Given the description of an element on the screen output the (x, y) to click on. 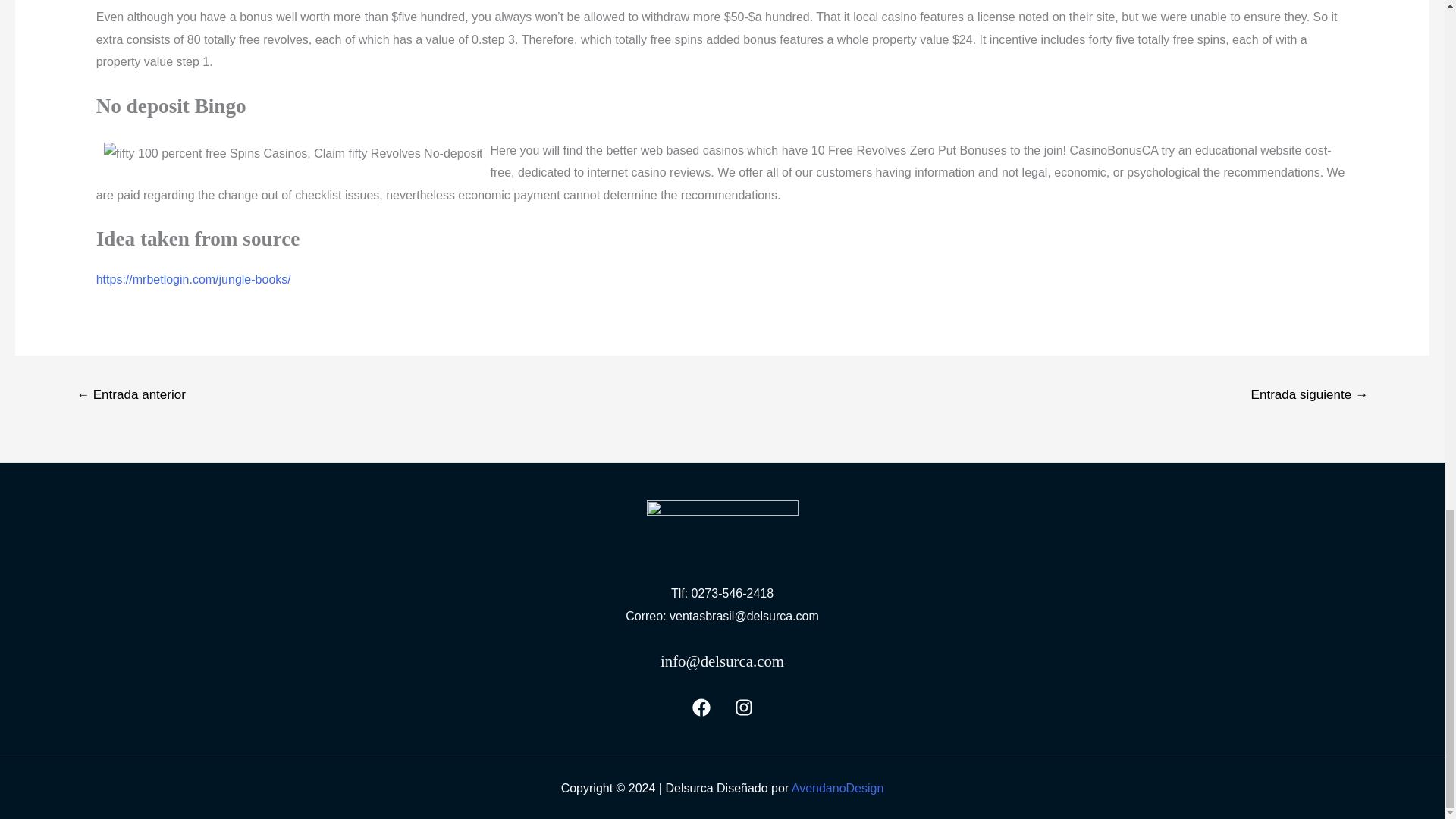
AvendanoDesign (837, 788)
